Given the description of an element on the screen output the (x, y) to click on. 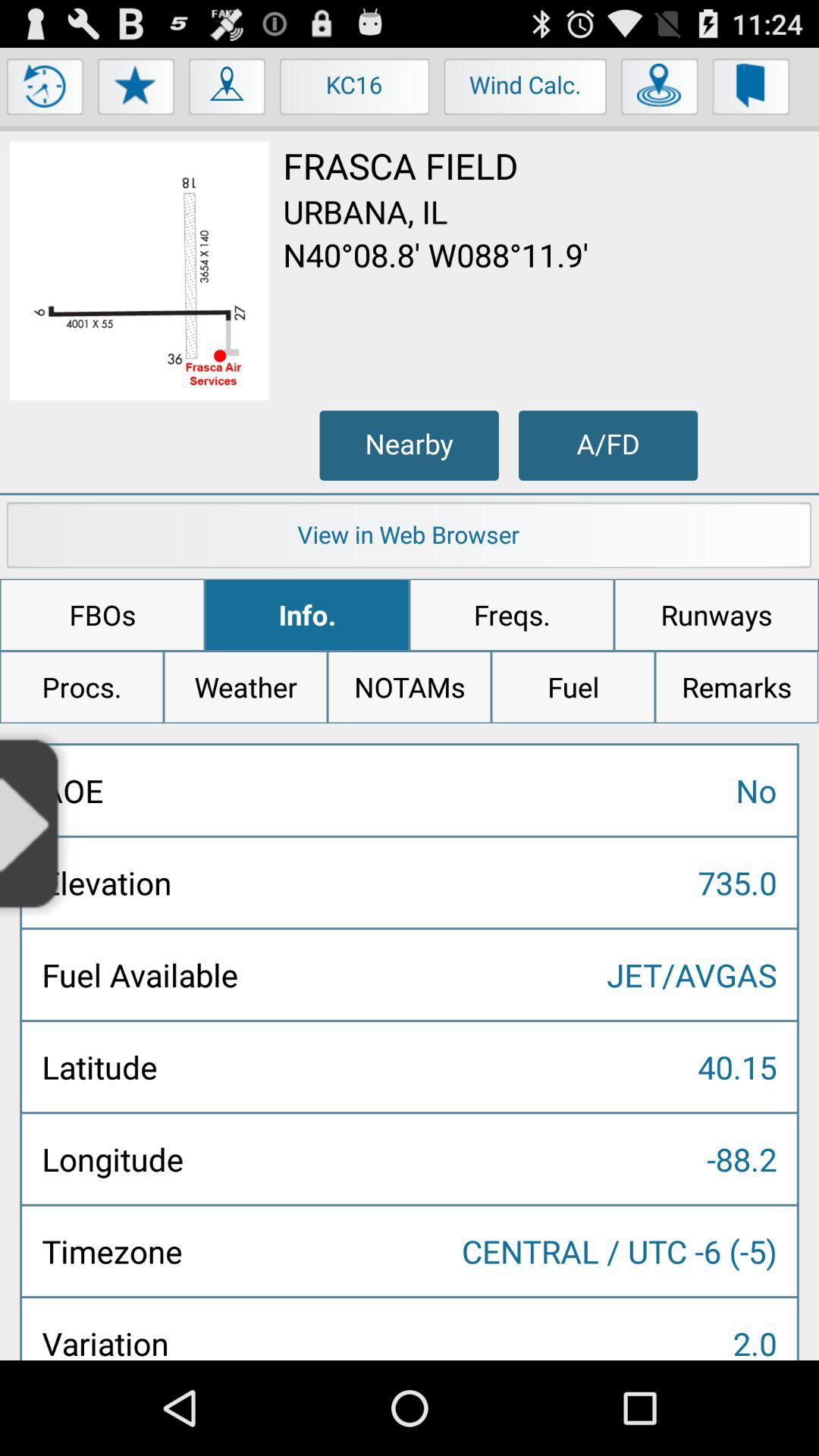
choose the app to the right of weather item (409, 687)
